Given the description of an element on the screen output the (x, y) to click on. 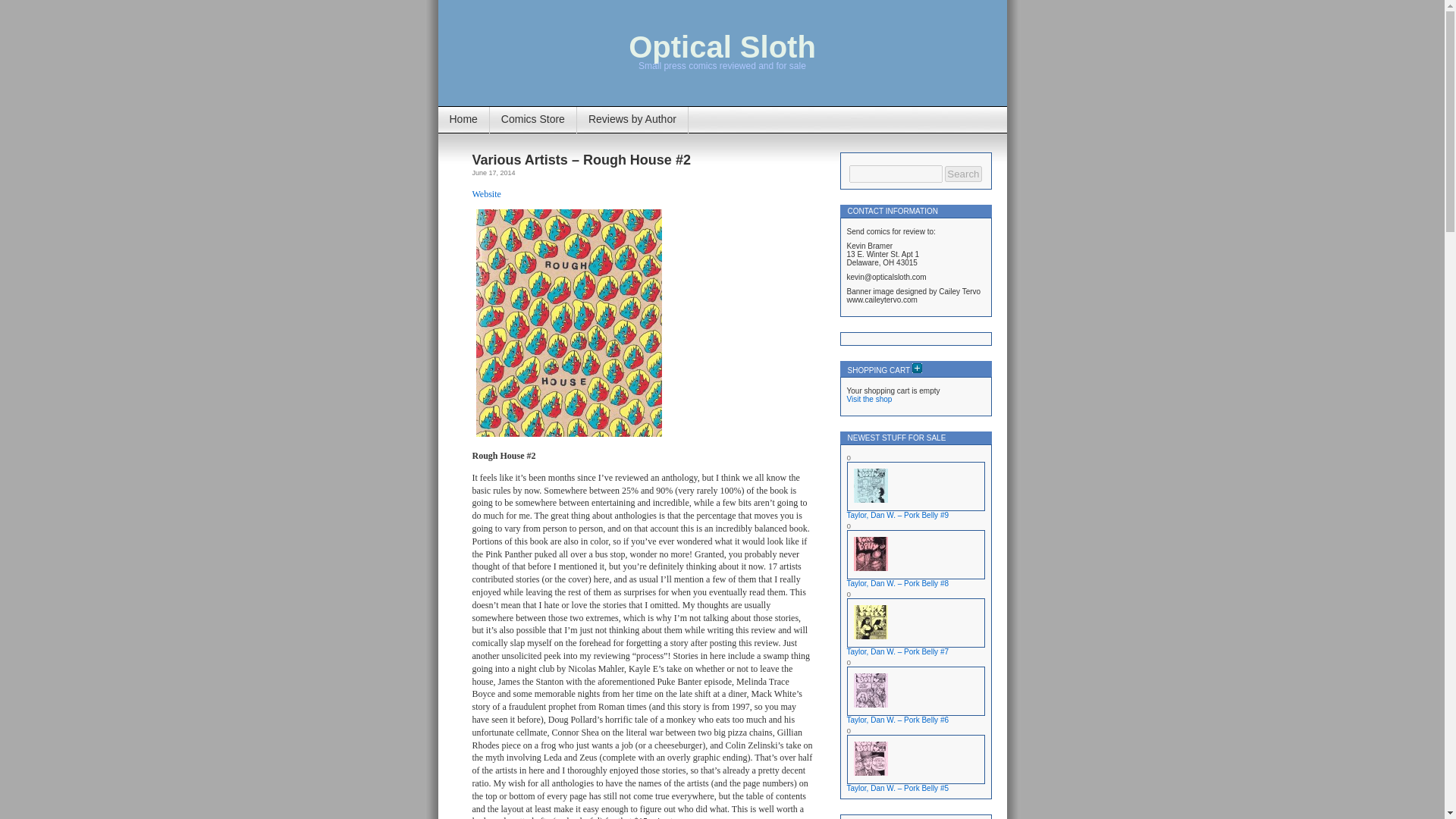
Optical Sloth (721, 46)
Visit Shop (868, 398)
Visit the shop (868, 398)
Website (485, 193)
Search (962, 173)
Reviews by Author (632, 120)
Home (463, 120)
Search (962, 173)
Comics Store (532, 120)
